Given the description of an element on the screen output the (x, y) to click on. 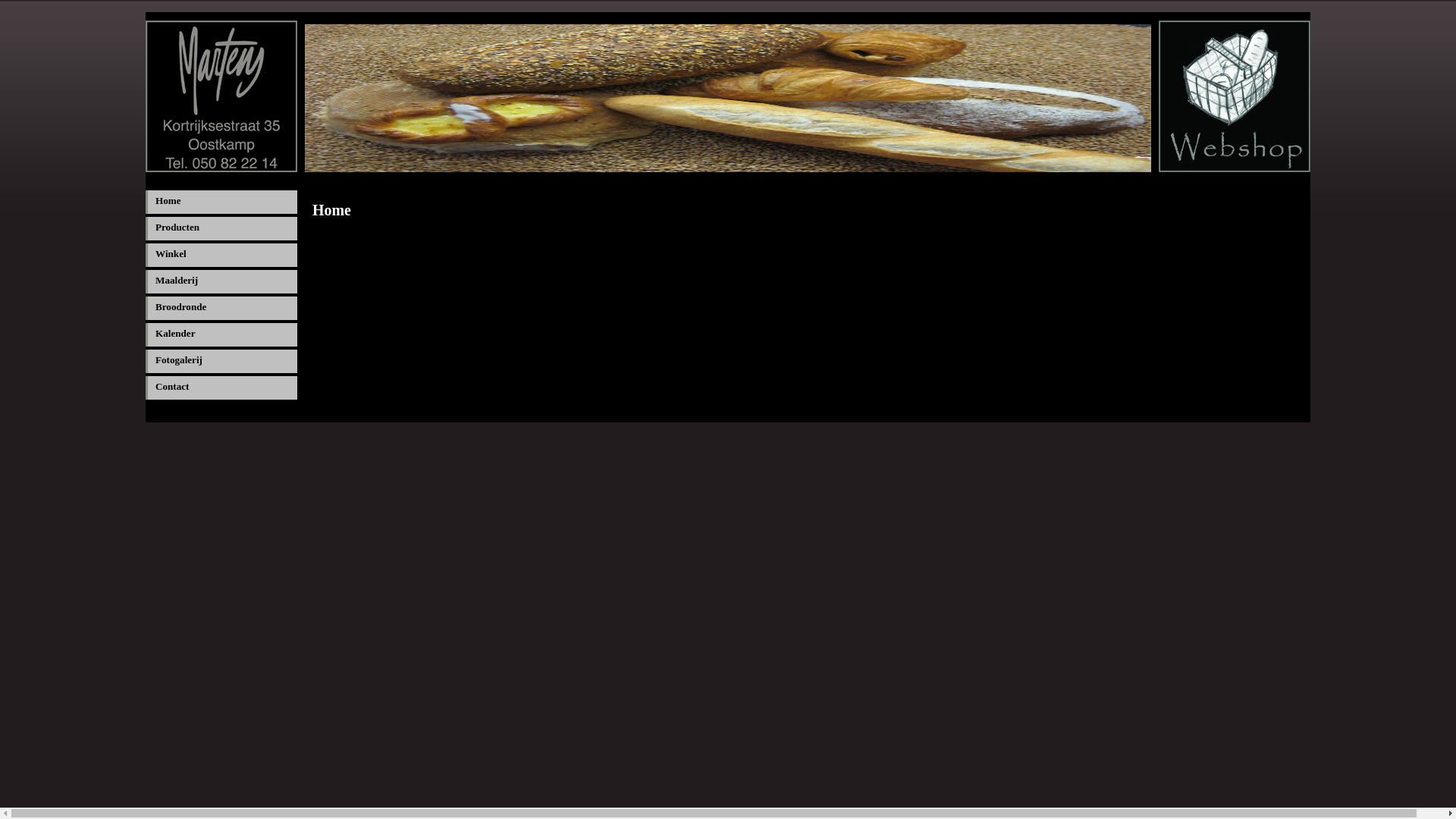
Winkel Element type: text (221, 254)
Fotogalerij Element type: text (221, 361)
Producten Element type: text (221, 228)
Kalender Element type: text (221, 334)
Broodronde Element type: text (221, 308)
Home Element type: text (221, 201)
Contact Element type: text (221, 387)
Maalderij Element type: text (221, 281)
